Given the description of an element on the screen output the (x, y) to click on. 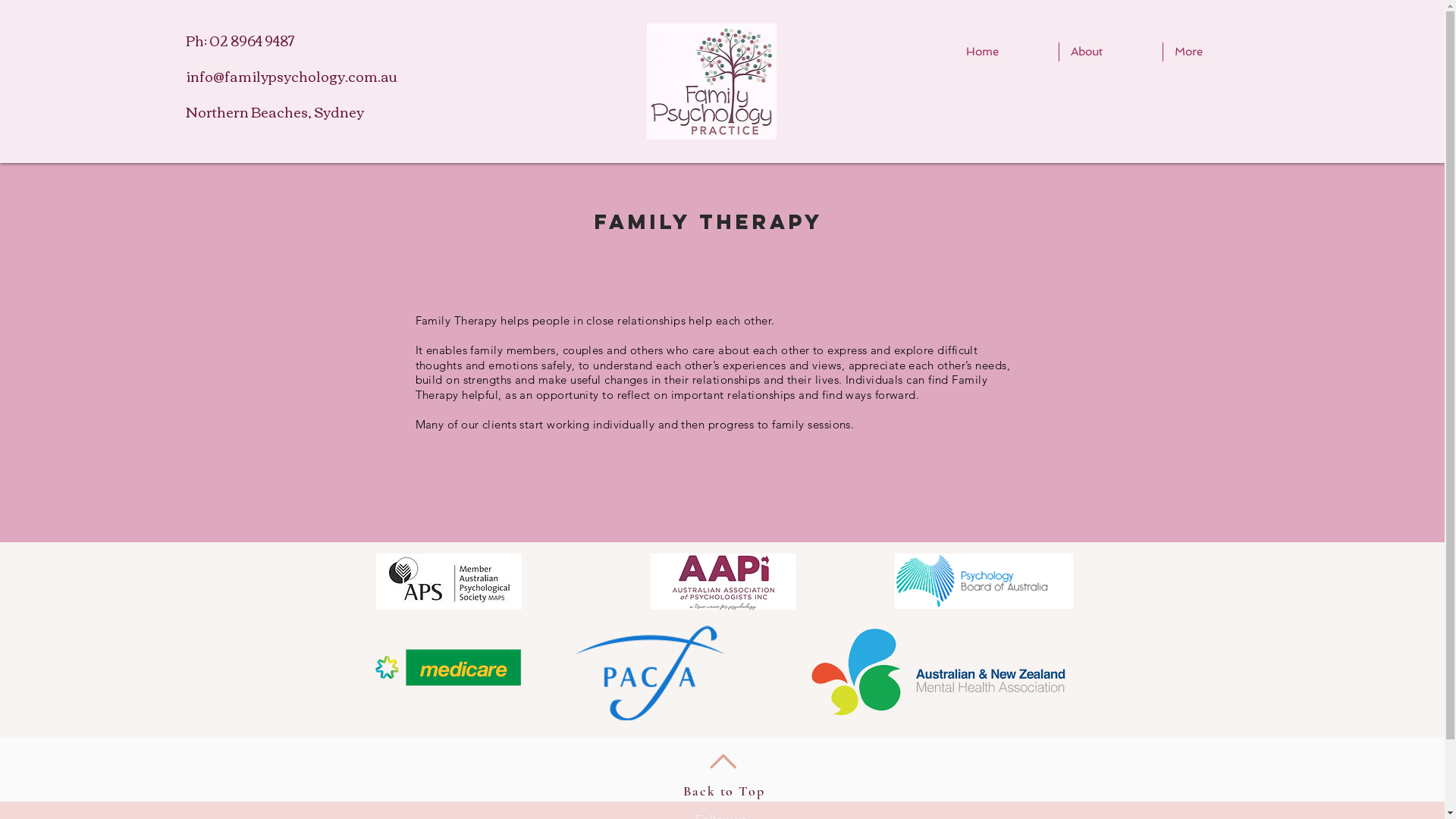
Home Element type: text (1005, 51)
About Element type: text (1109, 51)
Back to Top Element type: text (724, 790)
